Given the description of an element on the screen output the (x, y) to click on. 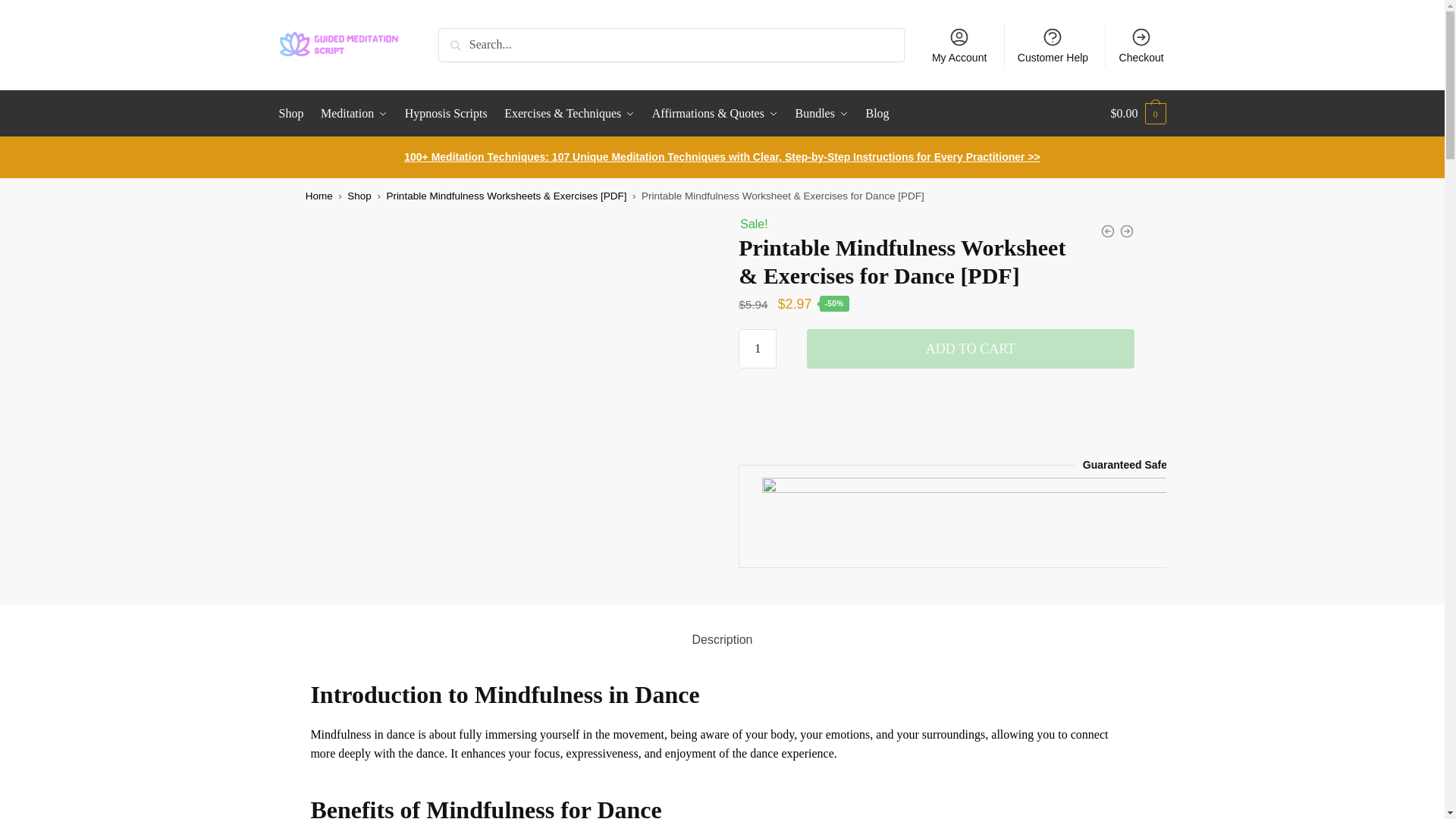
Bundles (822, 113)
My Account (959, 44)
Checkout (1141, 44)
View your shopping cart (1137, 113)
Hypnosis Scripts (446, 113)
Blog (877, 113)
1 (757, 348)
Meditation (354, 113)
Search (459, 38)
Shop (295, 113)
Customer Help (1053, 44)
